Given the description of an element on the screen output the (x, y) to click on. 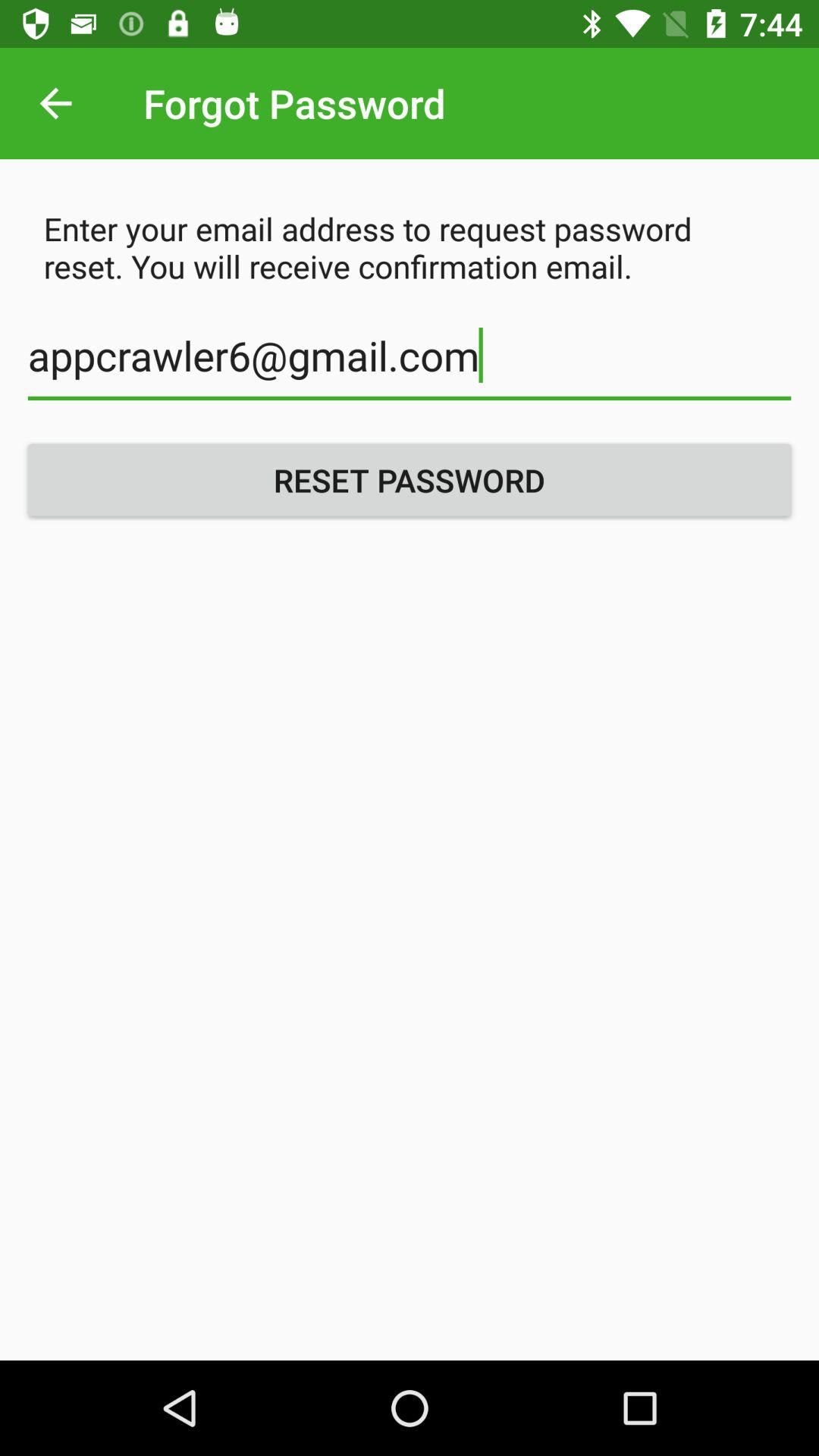
click the item next to the forgot password (55, 103)
